Given the description of an element on the screen output the (x, y) to click on. 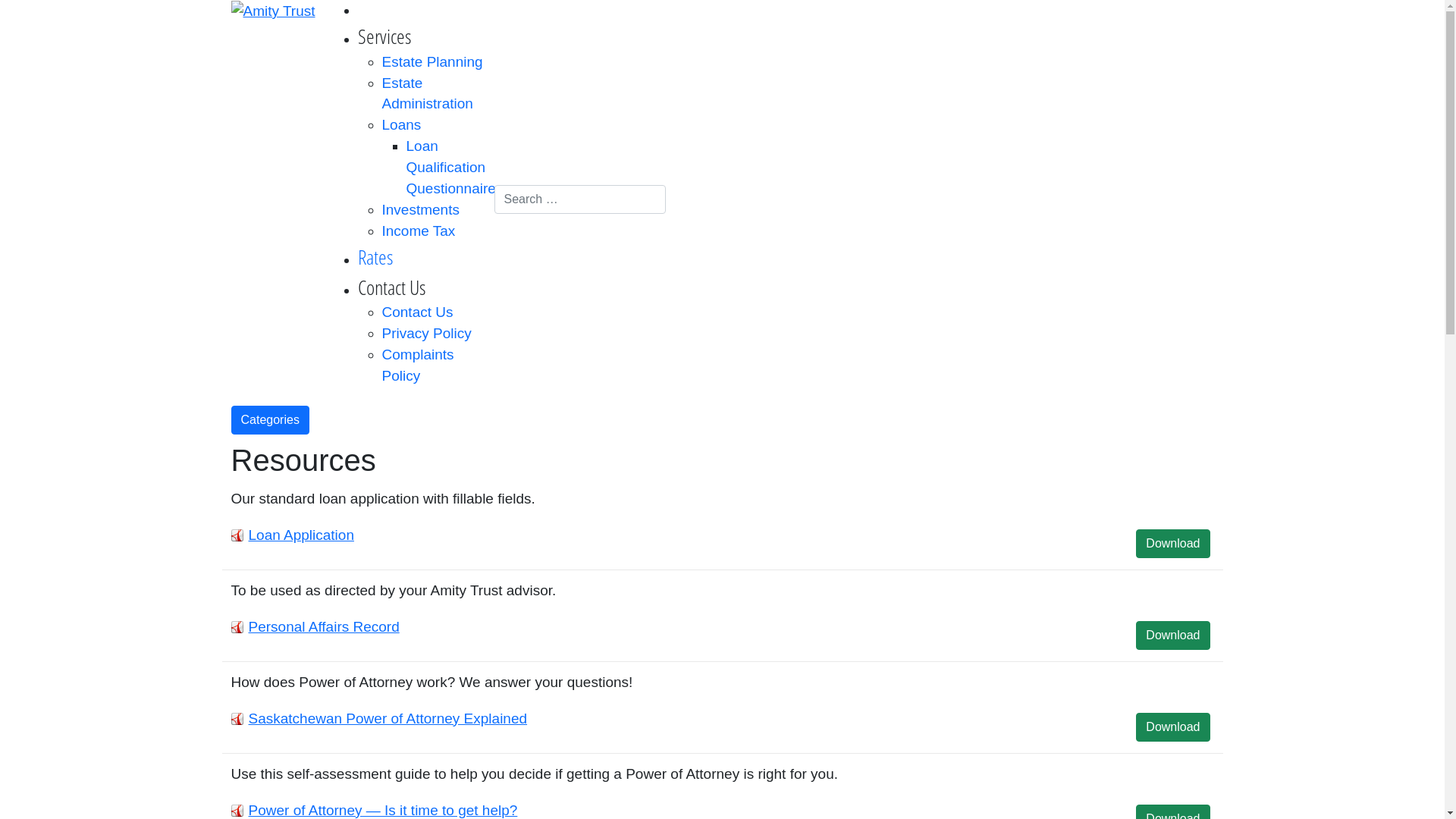
Loans Element type: text (401, 124)
Complaints Policy Element type: text (418, 364)
Categories Element type: text (269, 419)
Personal Affairs Record Element type: text (323, 626)
Download Element type: text (1172, 543)
Estate Administration Element type: text (427, 93)
Contact Us Element type: text (417, 312)
Estate Planning Element type: text (432, 61)
Loan Application Element type: text (301, 534)
Privacy Policy Element type: text (426, 333)
Download Element type: text (1172, 726)
Loan Qualification Questionnaire Element type: text (450, 167)
Investments Element type: text (420, 209)
Rates Element type: text (375, 256)
Income Tax Element type: text (418, 230)
Saskatchewan Power of Attorney Explained Element type: text (387, 718)
Download Element type: text (1172, 635)
